Given the description of an element on the screen output the (x, y) to click on. 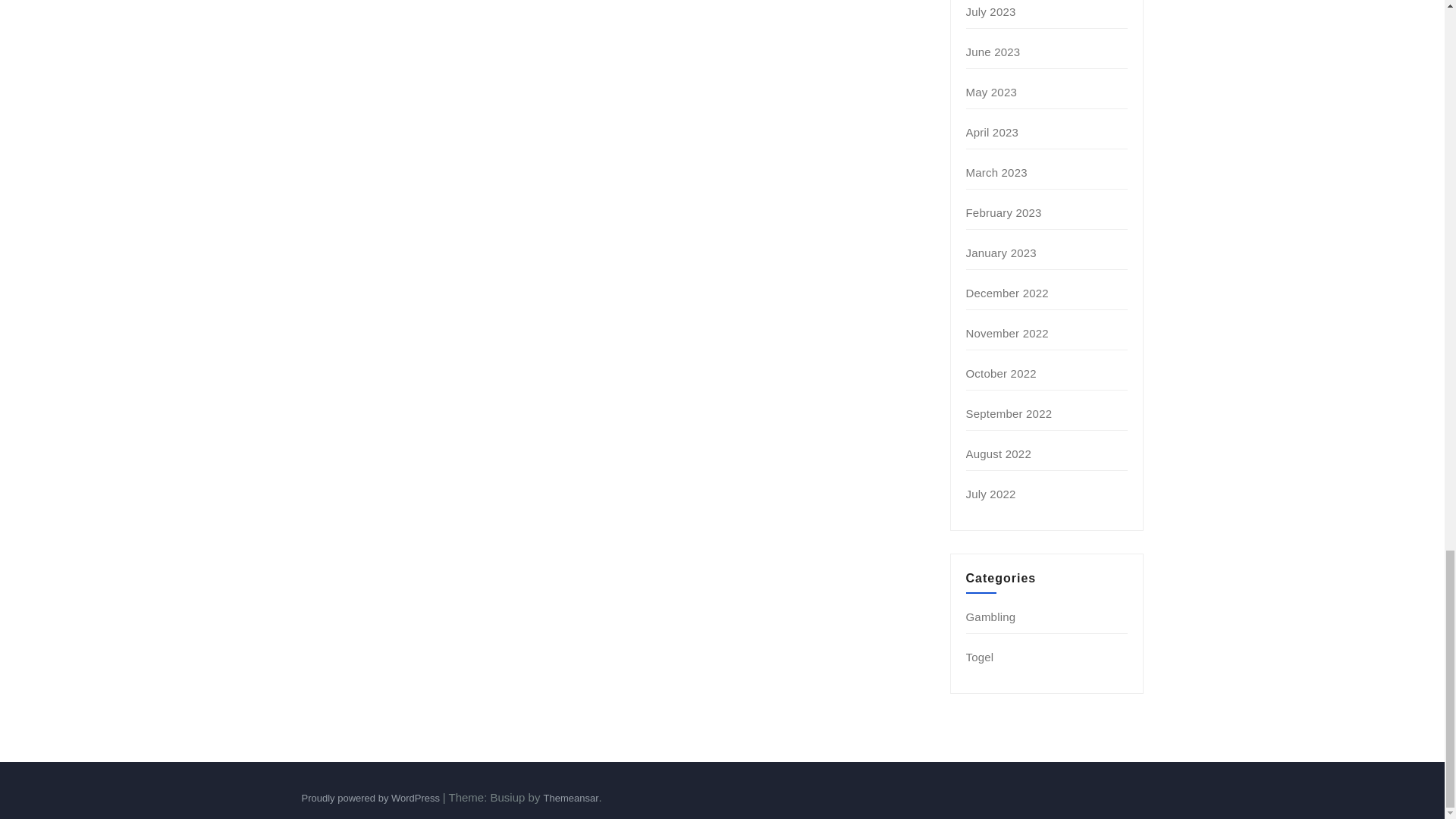
April 2023 (992, 132)
March 2023 (996, 172)
May 2023 (991, 91)
July 2023 (991, 11)
June 2023 (993, 51)
